Given the description of an element on the screen output the (x, y) to click on. 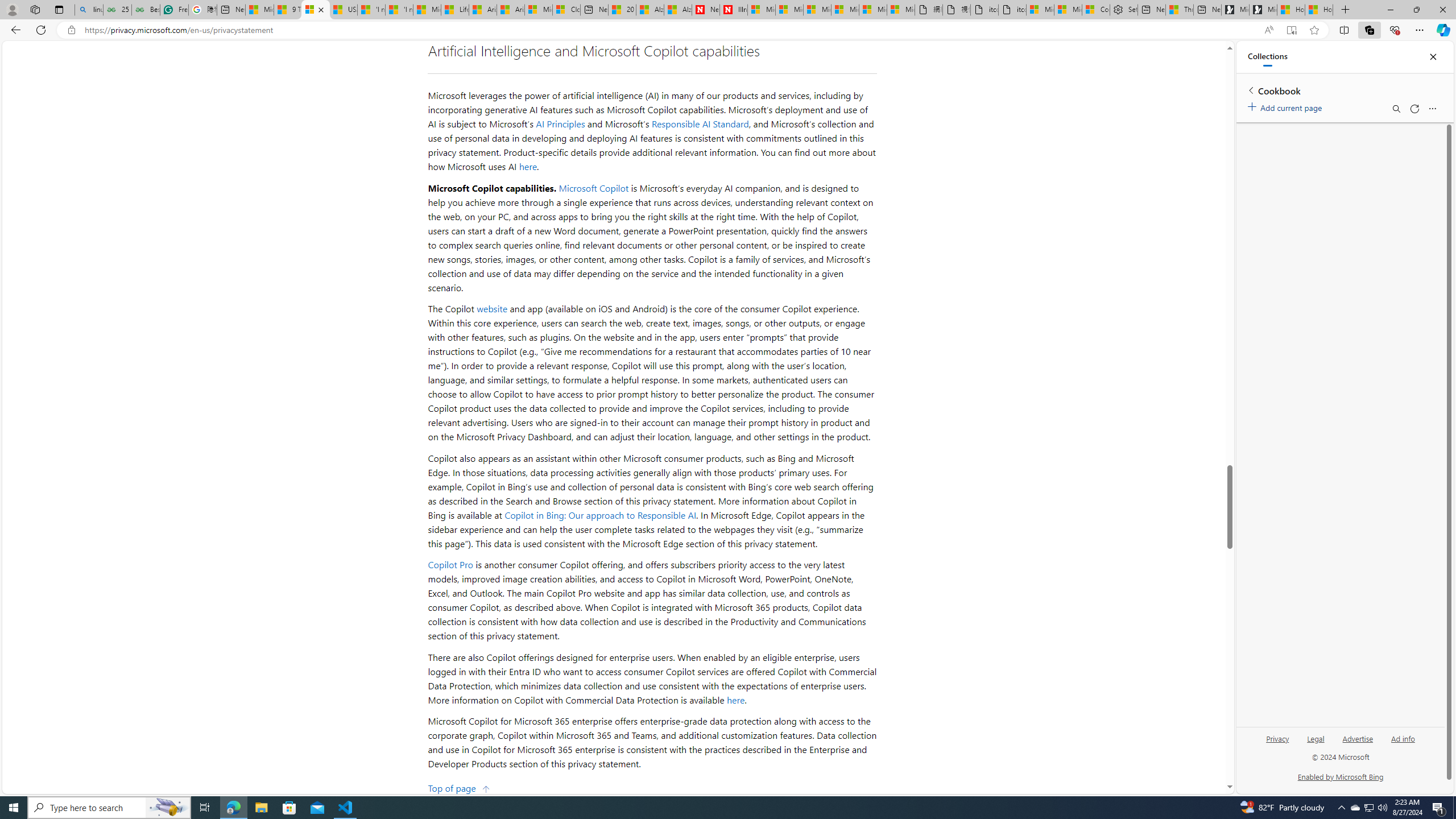
20 Ways to Boost Your Protein Intake at Every Meal (621, 9)
here (735, 699)
Microsoft Copilot (593, 187)
Illness news & latest pictures from Newsweek.com (733, 9)
Copilot Pro (450, 564)
